Given the description of an element on the screen output the (x, y) to click on. 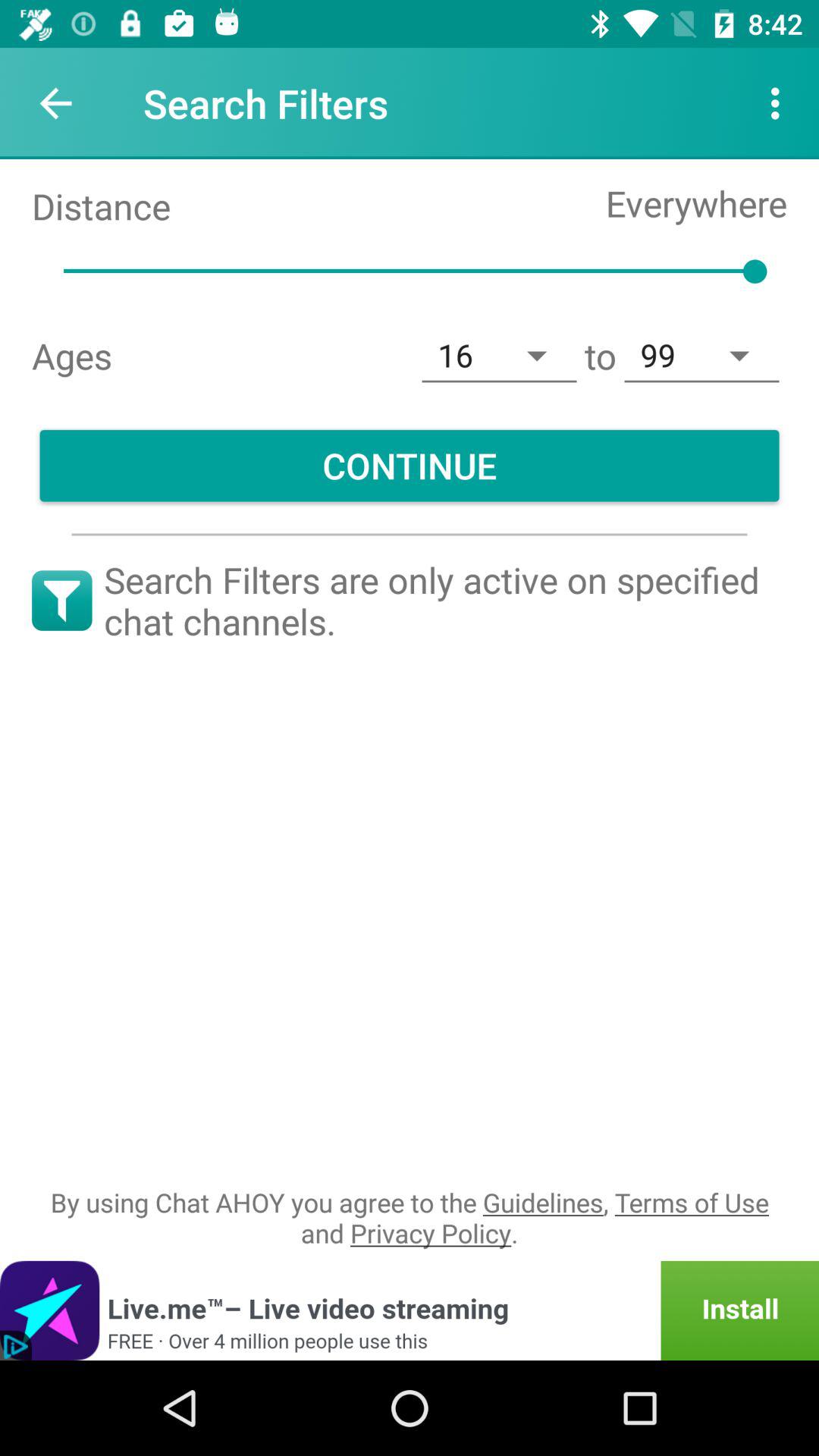
jump to by using chat item (409, 1217)
